Given the description of an element on the screen output the (x, y) to click on. 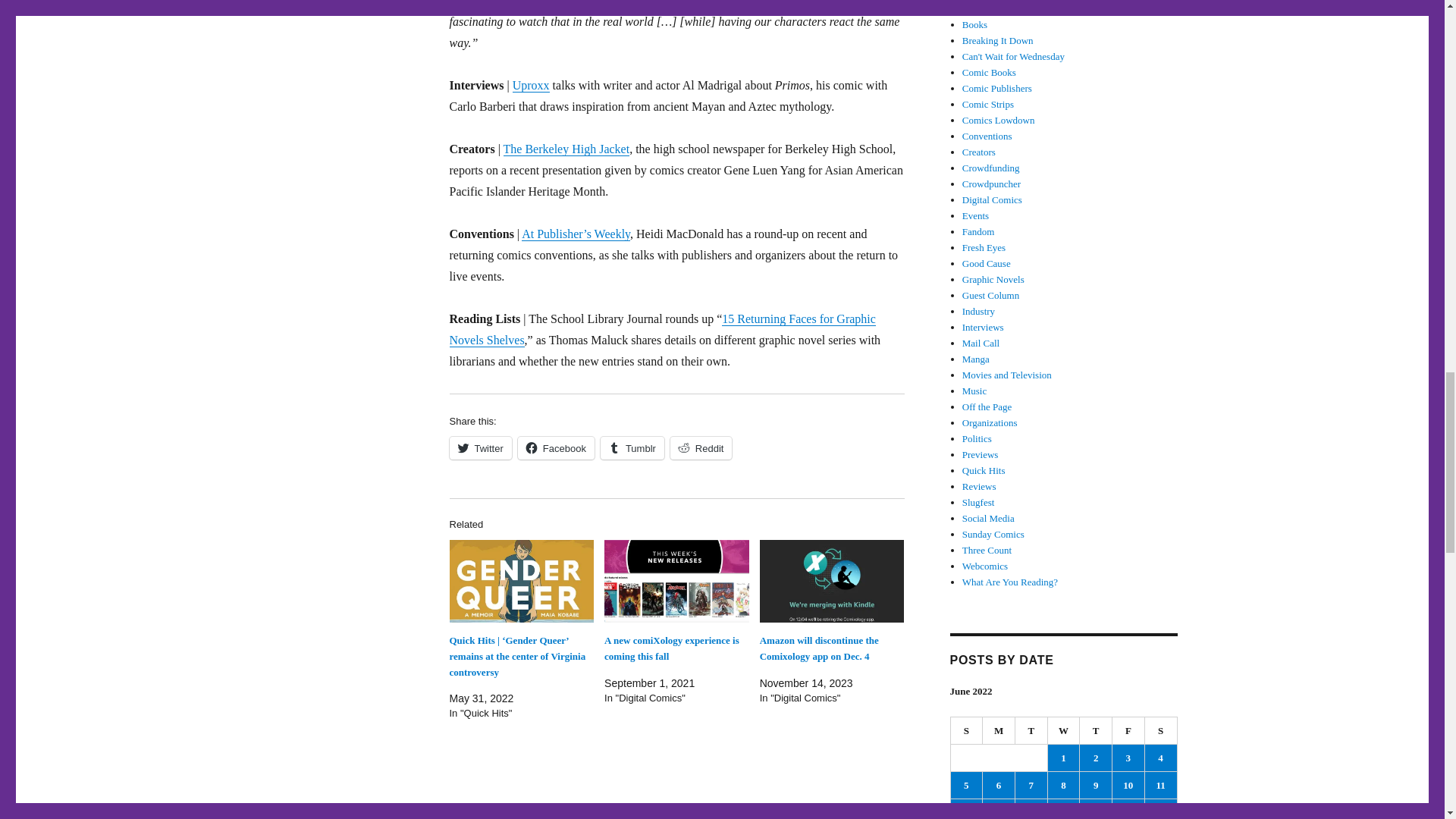
Amazon will discontinue the Comixology app on Dec. 4 (819, 647)
Tumblr (631, 447)
Twitter (479, 447)
Uproxx (531, 84)
Facebook (556, 447)
Click to share on Twitter (479, 447)
Click to share on Reddit (700, 447)
15 Returning Faces for Graphic Novels Shelves (661, 329)
Amazon will discontinue the Comixology app on Dec. 4 (819, 647)
A new comiXology experience is coming this fall (676, 580)
